Given the description of an element on the screen output the (x, y) to click on. 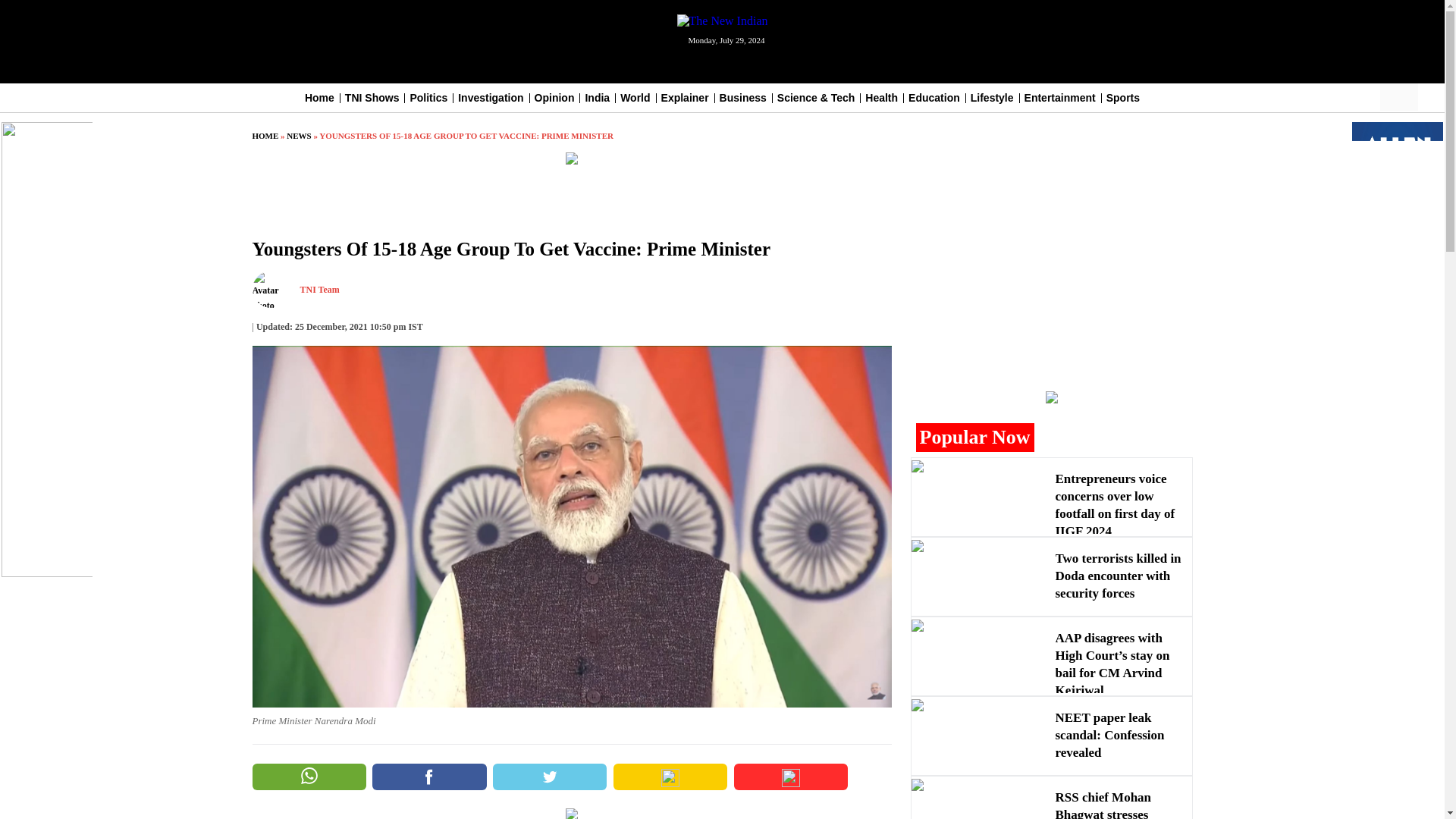
Business (743, 97)
Share on WhatsApp (308, 776)
GO (1410, 96)
Sports (1123, 97)
Health (881, 97)
TNI Shows (371, 97)
Entertainment (1060, 97)
Share on koo-share (669, 776)
Lifestyle (992, 97)
The New Indian (722, 20)
Politics (427, 97)
Education (933, 97)
Share on Facebook (429, 776)
Explainer (685, 97)
The New Indian (722, 19)
